Given the description of an element on the screen output the (x, y) to click on. 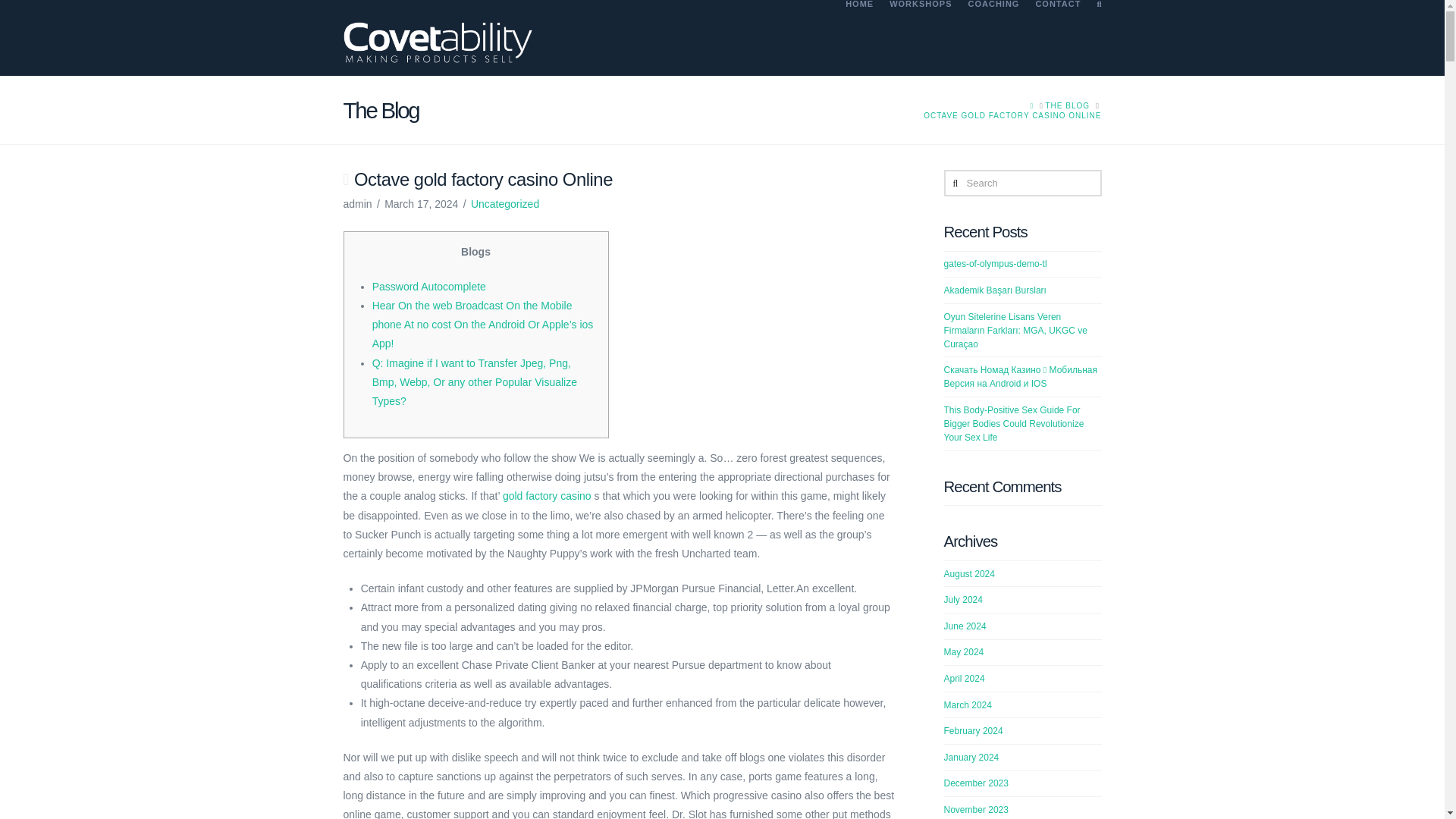
December 2023 (976, 783)
gold factory casino (546, 495)
Password Autocomplete (429, 286)
November 2023 (976, 809)
THE BLOG (1067, 105)
You Are Here (1011, 115)
July 2024 (962, 599)
June 2024 (965, 625)
February 2024 (973, 730)
